Given the description of an element on the screen output the (x, y) to click on. 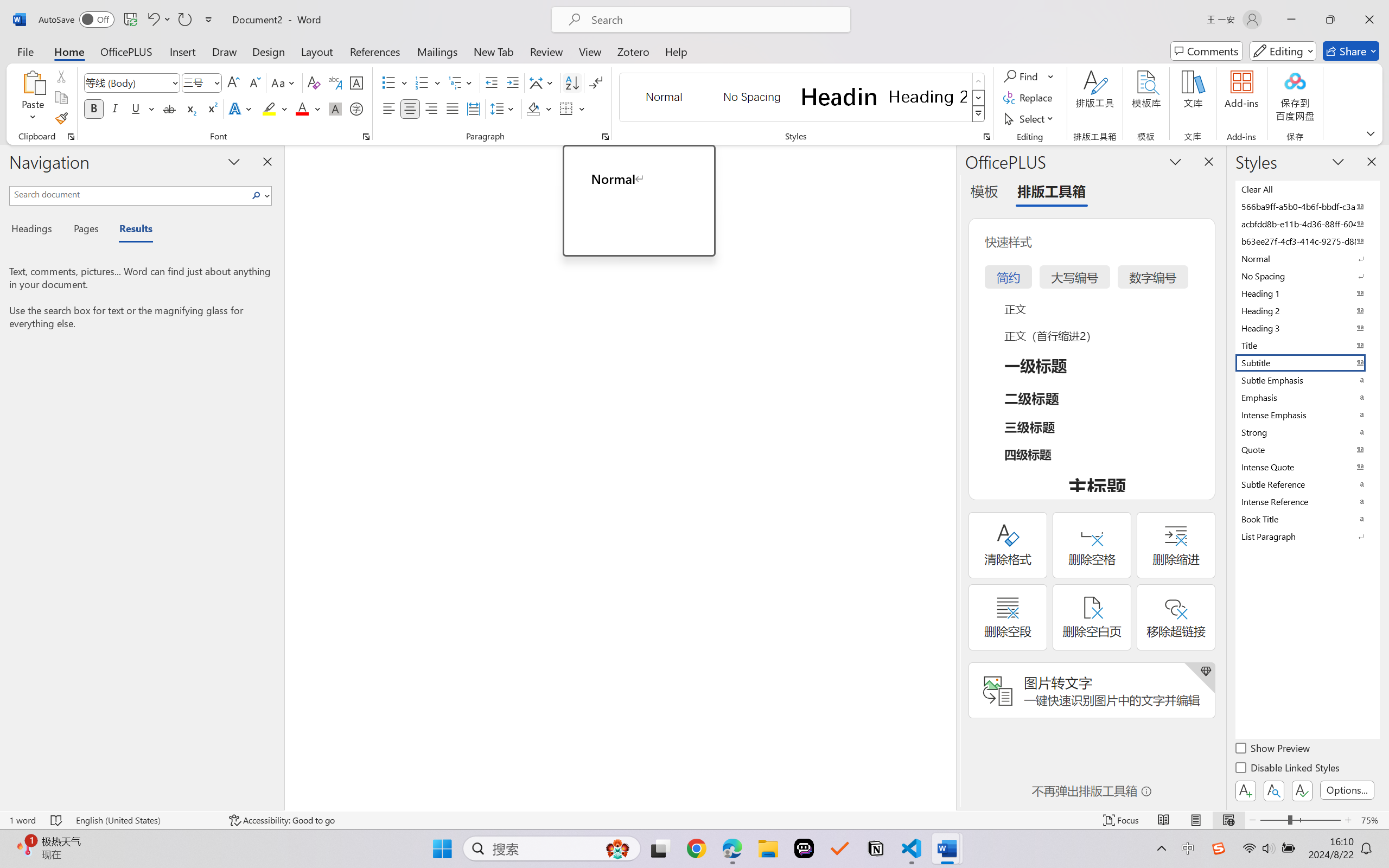
Shading (539, 108)
Format Painter (60, 118)
Copy (60, 97)
Justify (452, 108)
Select (1030, 118)
Asian Layout (542, 82)
AutoSave (76, 19)
Subtitle (1306, 362)
